Given the description of an element on the screen output the (x, y) to click on. 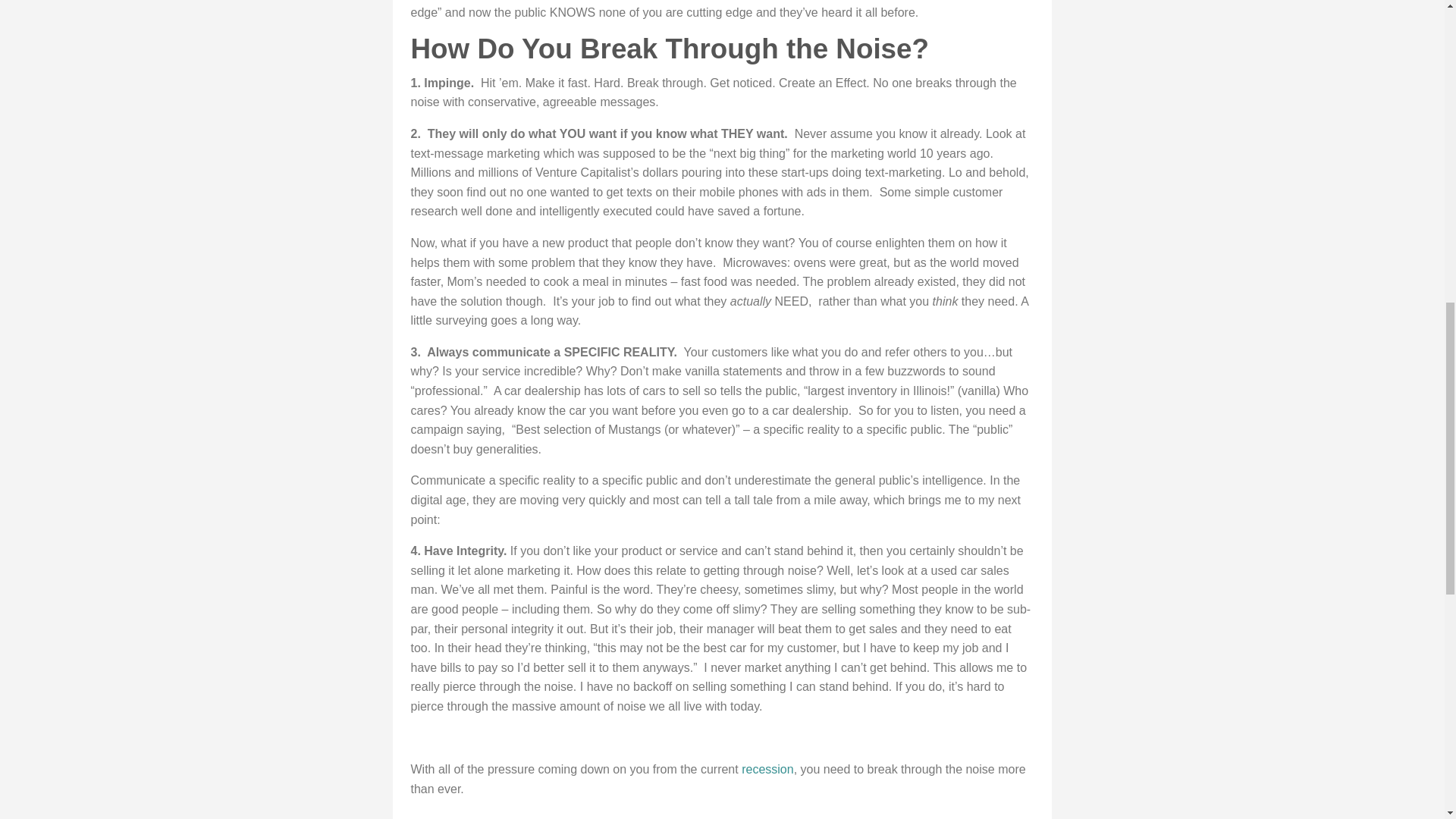
recession (767, 768)
